Given the description of an element on the screen output the (x, y) to click on. 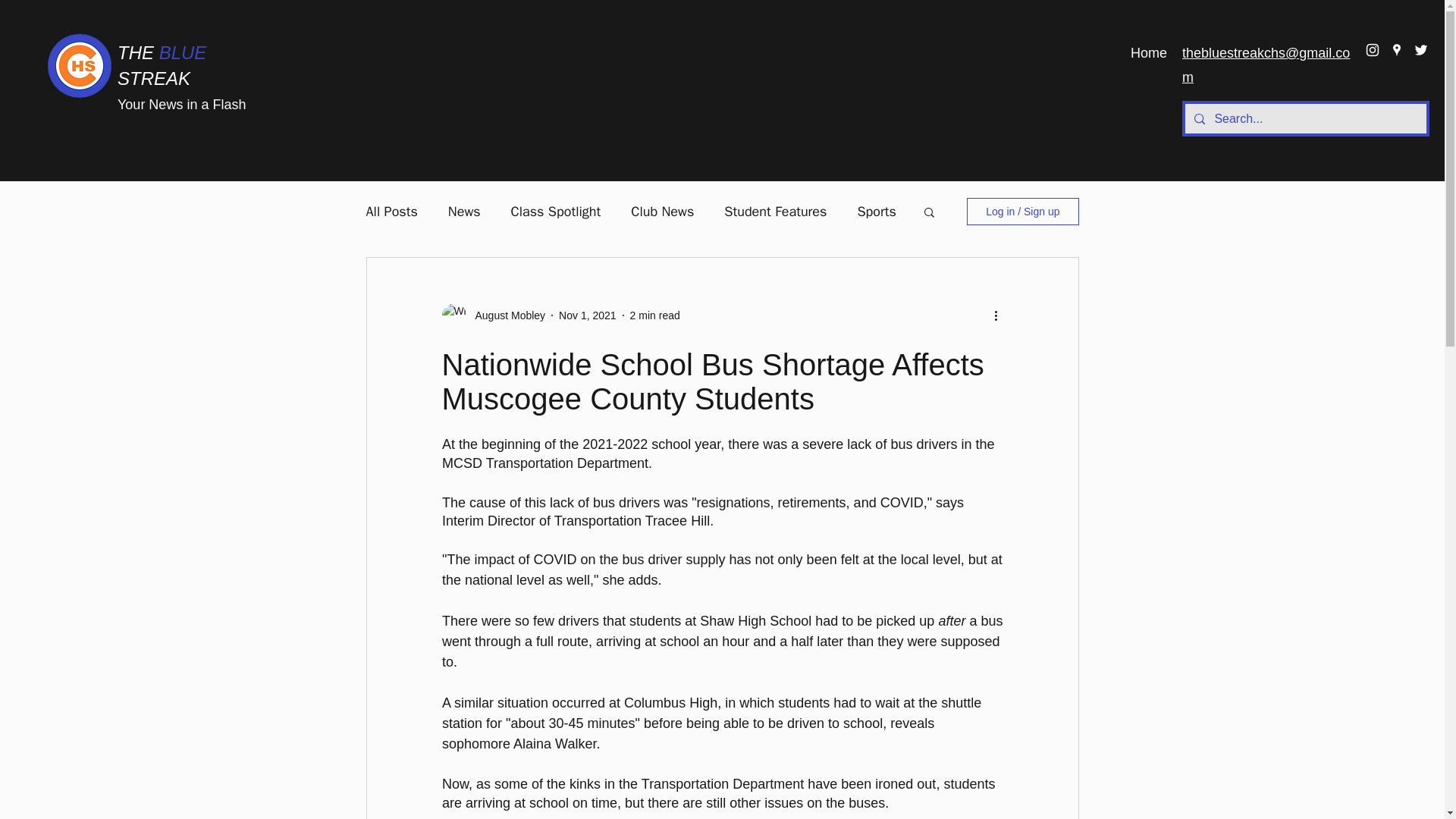
Sports (876, 211)
2 min read (654, 315)
August Mobley (504, 315)
Home (1148, 52)
Club News (662, 211)
All Posts (390, 211)
Nov 1, 2021 (587, 315)
Student Features (775, 211)
Class Spotlight (556, 211)
News (464, 211)
